Given the description of an element on the screen output the (x, y) to click on. 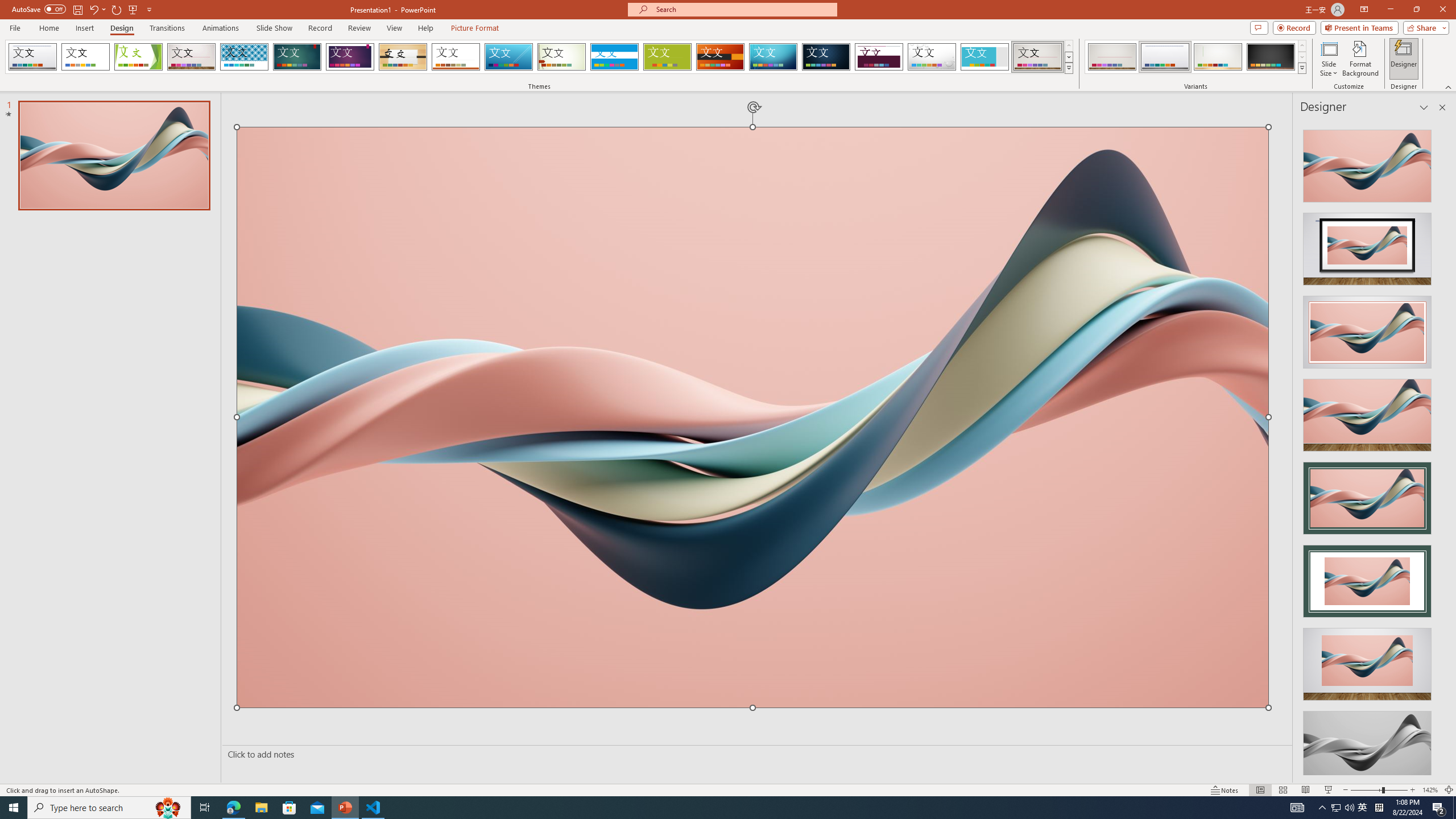
Dividend (879, 56)
AutomationID: SlideThemesGallery (539, 56)
Gallery Variant 4 (1270, 56)
AutomationID: ThemeVariantsGallery (1195, 56)
